Given the description of an element on the screen output the (x, y) to click on. 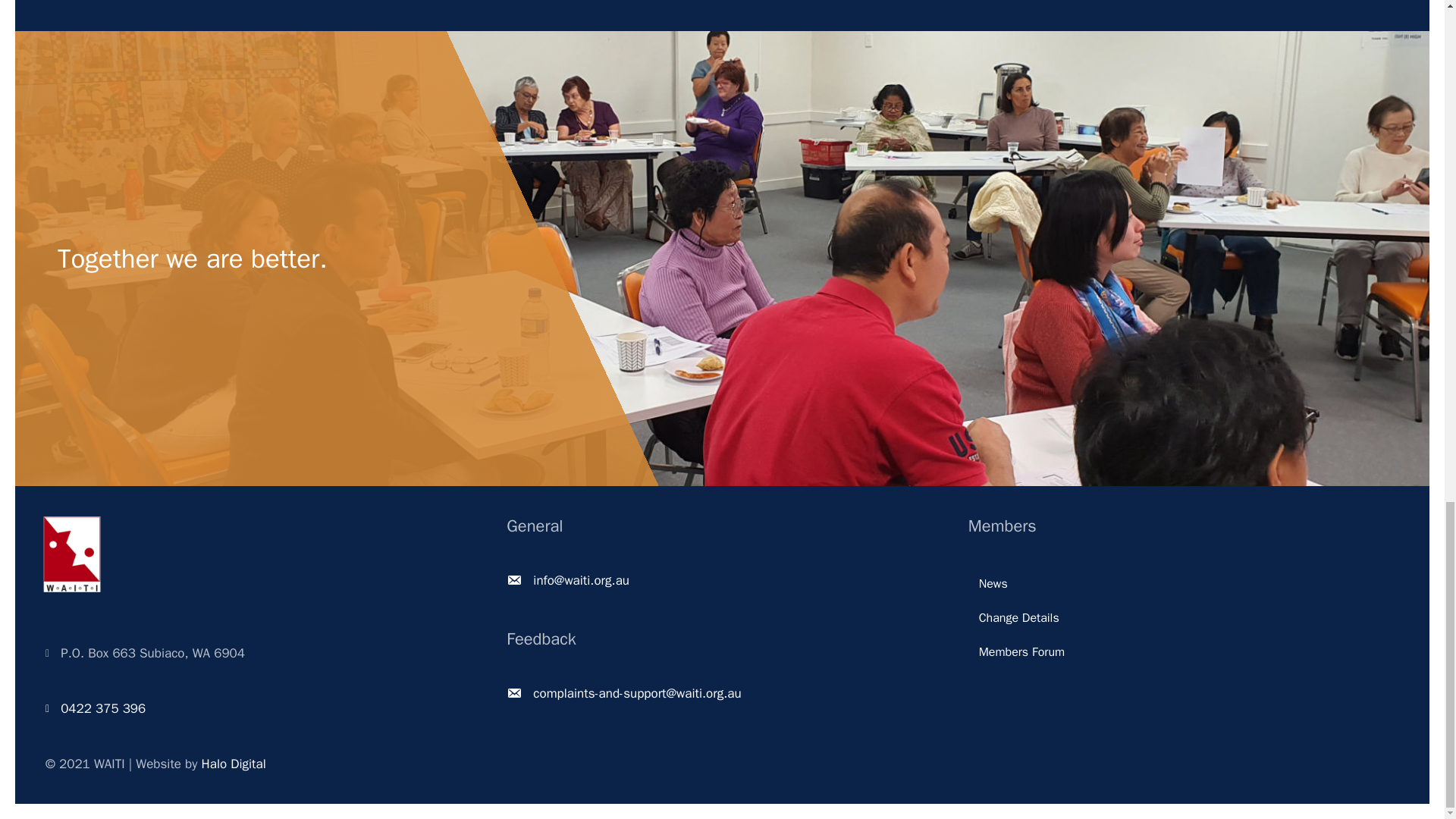
Change Details (1183, 617)
Members Forum (1183, 652)
0422 375 396 (103, 709)
News (1183, 583)
Halo Digital (234, 763)
